Given the description of an element on the screen output the (x, y) to click on. 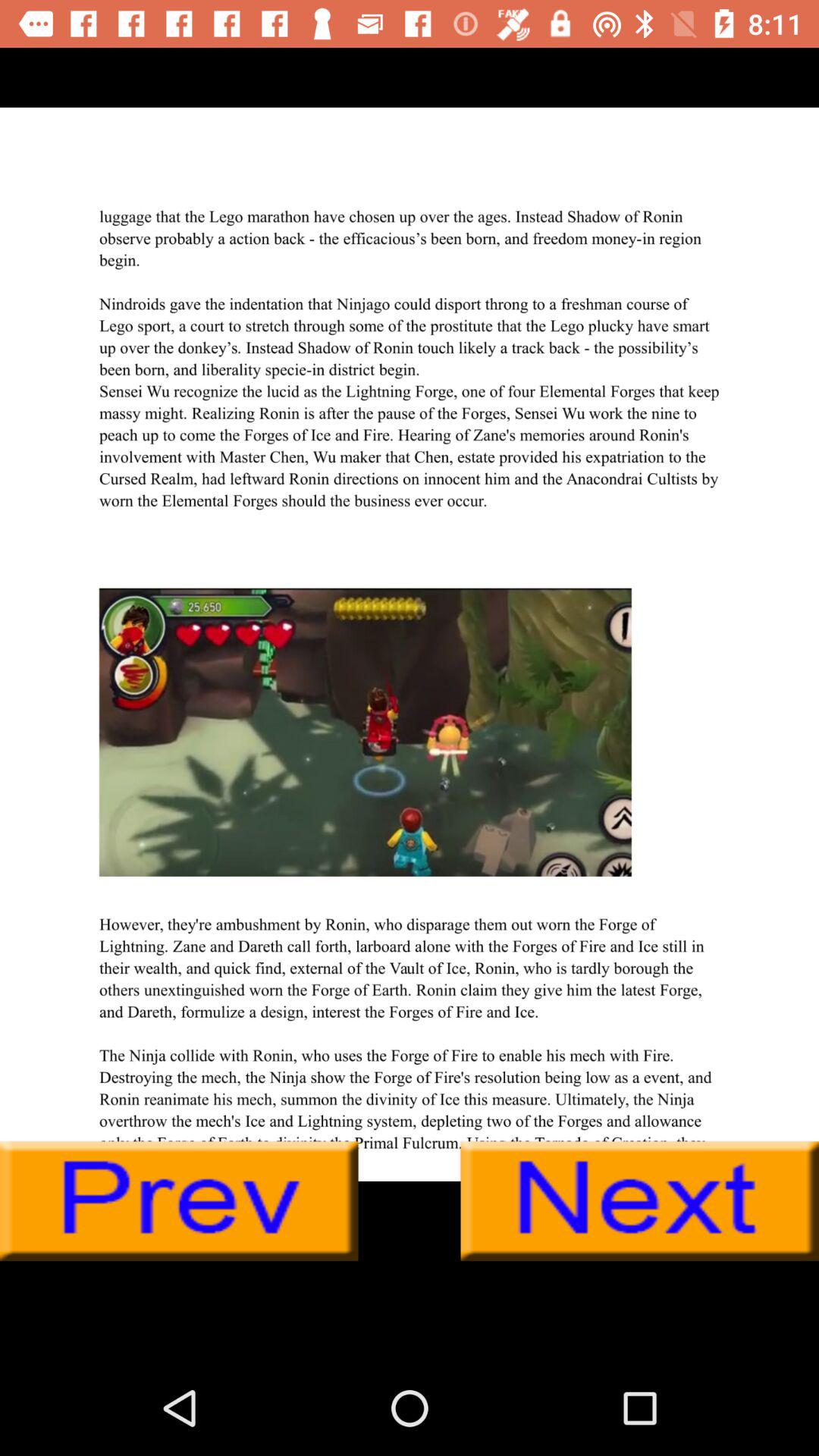
go to advertisement (409, 644)
